Given the description of an element on the screen output the (x, y) to click on. 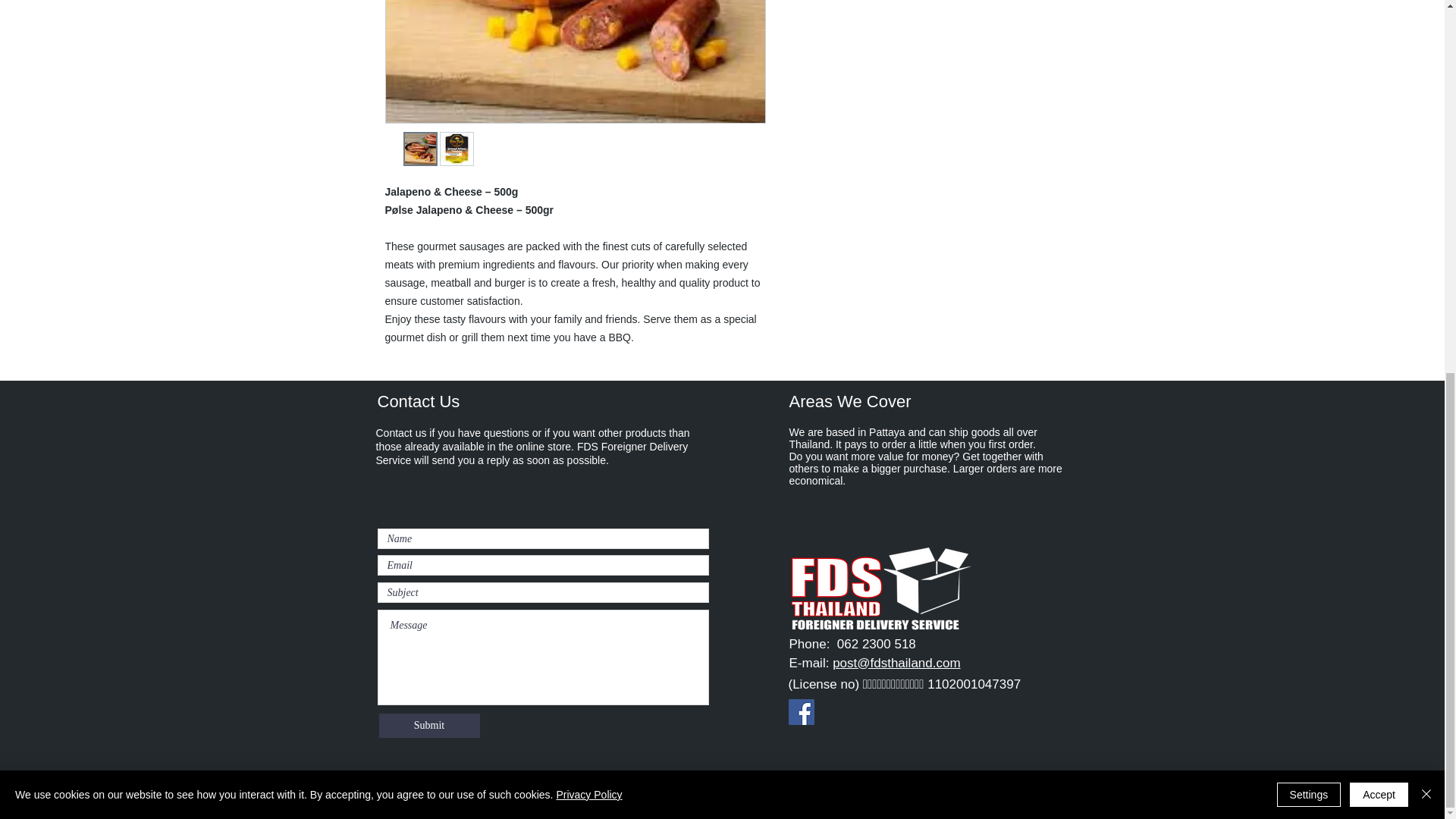
Submit (429, 725)
Accept (1378, 112)
Settings (1308, 112)
Privacy Policy (588, 112)
